Given the description of an element on the screen output the (x, y) to click on. 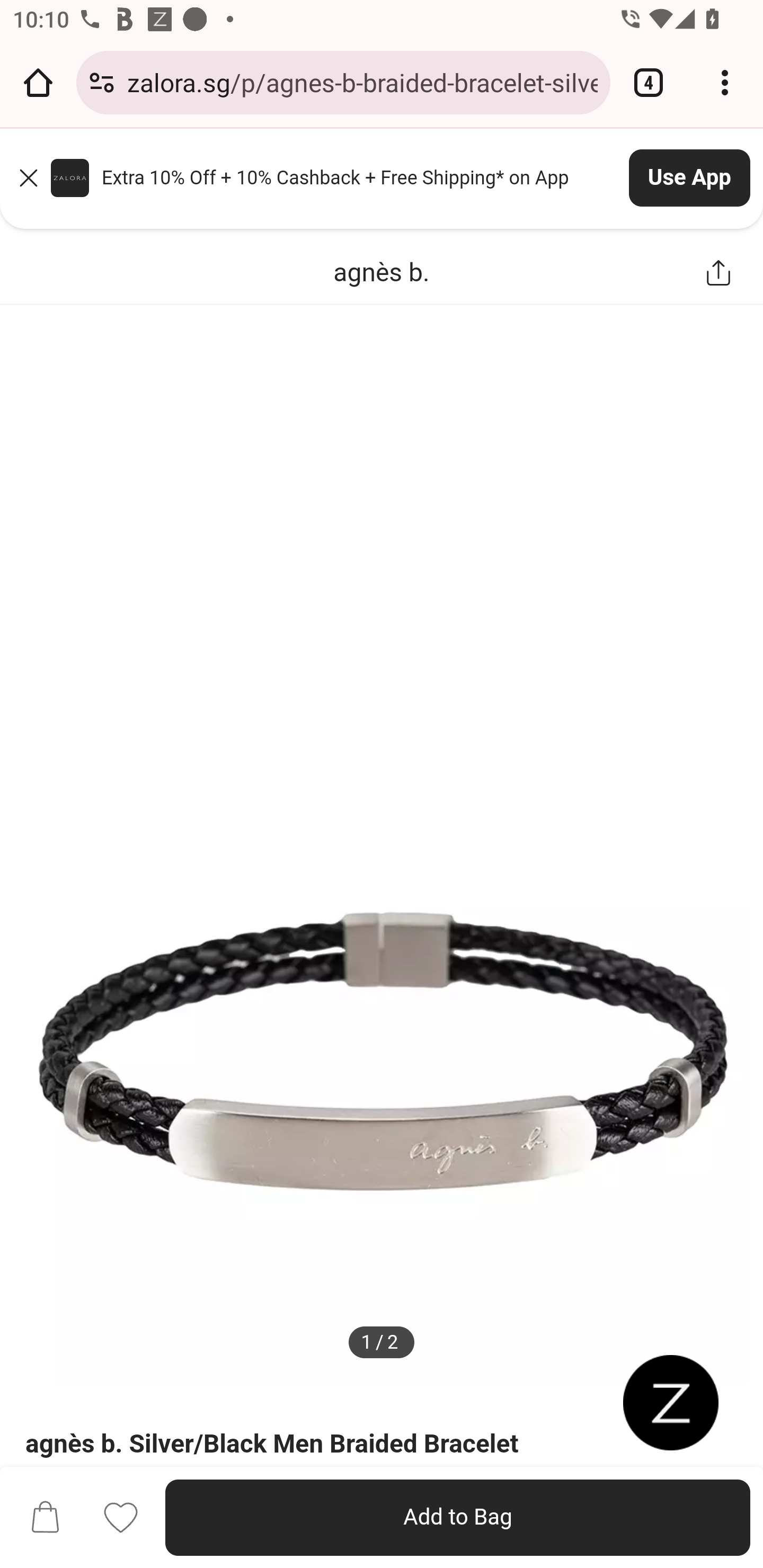
Open the home page (38, 82)
Connection is secure (101, 82)
Switch or close tabs (648, 82)
Customize and control Google Chrome (724, 82)
agnès b. (381, 270)
agnès b. Silver/Black Men Braided Bracelet (278, 1442)
Go To Cart (44, 1517)
Add to Bag (457, 1517)
Add To Wishlist (120, 1517)
